Given the description of an element on the screen output the (x, y) to click on. 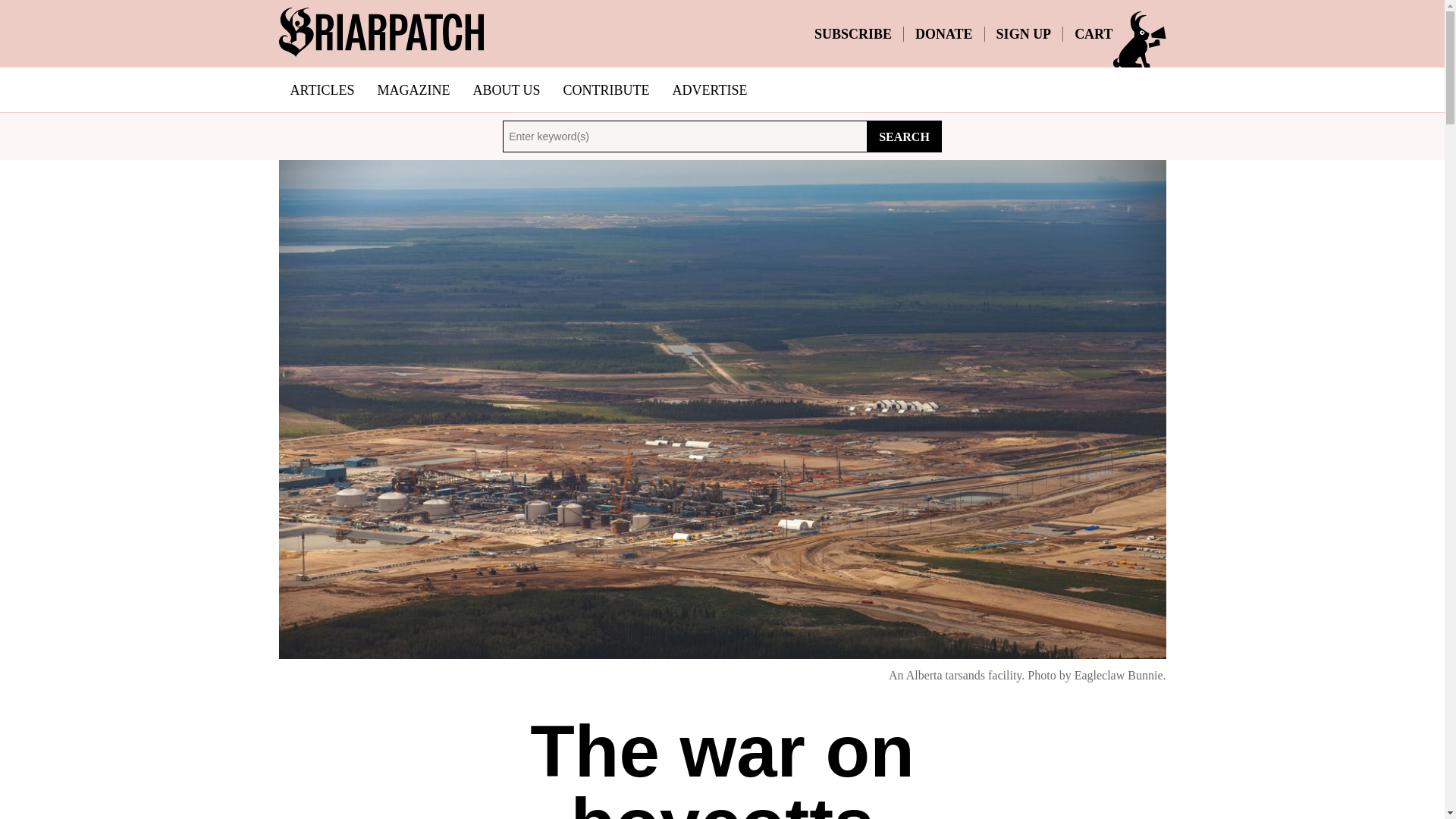
ARTICLES (322, 89)
ADVERTISE (709, 89)
SUBSCRIBE (852, 32)
CONTRIBUTE (606, 89)
SIGN UP (1023, 32)
MAGAZINE (413, 89)
CART (1093, 32)
SEARCH (904, 136)
ABOUT US (506, 89)
DONATE (943, 32)
